Given the description of an element on the screen output the (x, y) to click on. 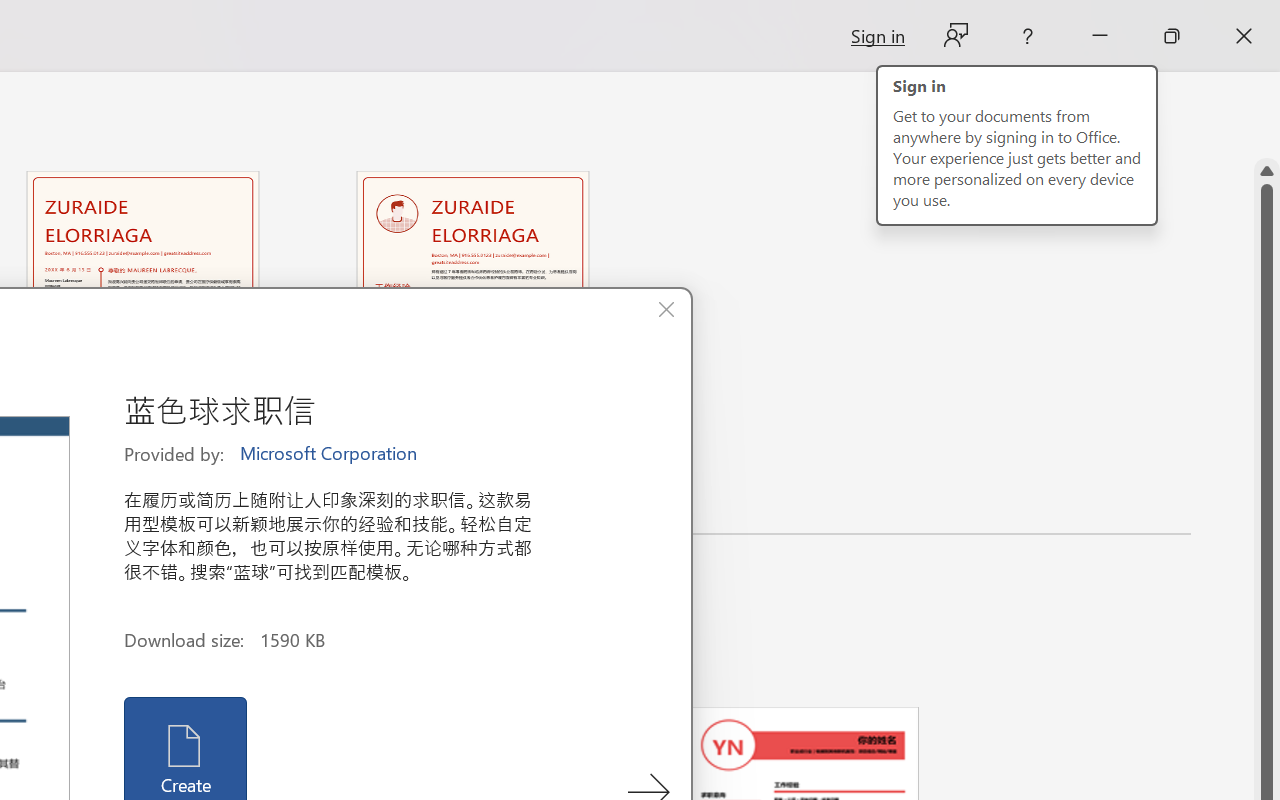
Microsoft Corporation (330, 454)
Line up (1267, 171)
Unpin from list (603, 499)
